Given the description of an element on the screen output the (x, y) to click on. 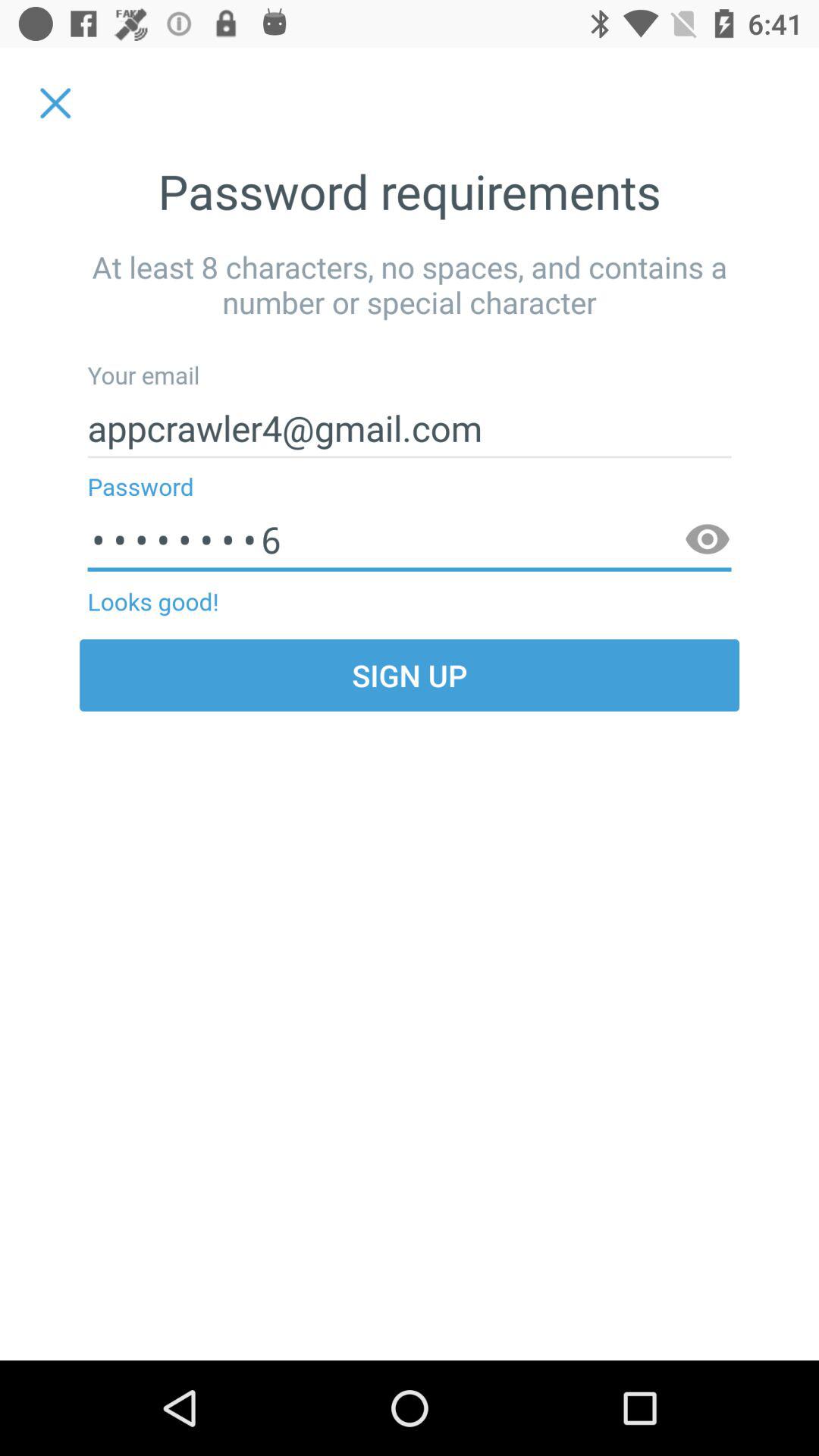
tap item below the appcrawler4@gmail.com (707, 539)
